Given the description of an element on the screen output the (x, y) to click on. 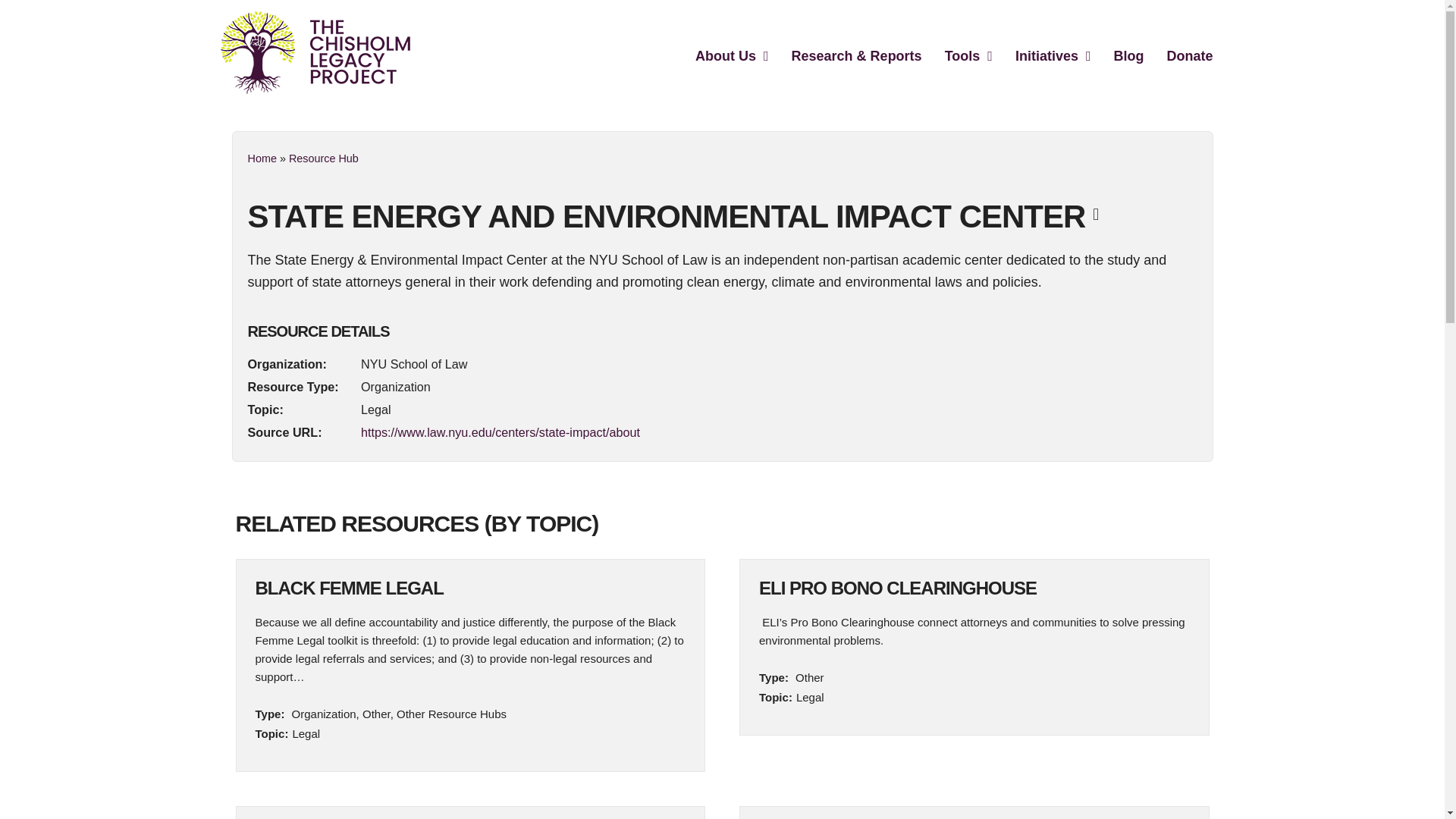
Black Femme Legal (348, 588)
Donate (1189, 55)
Home (261, 158)
Tools (968, 55)
Initiatives (1053, 55)
Blog (1128, 55)
About Us (731, 55)
Resource Hub (323, 158)
ELI Pro Bono Clearinghouse (897, 588)
